Given the description of an element on the screen output the (x, y) to click on. 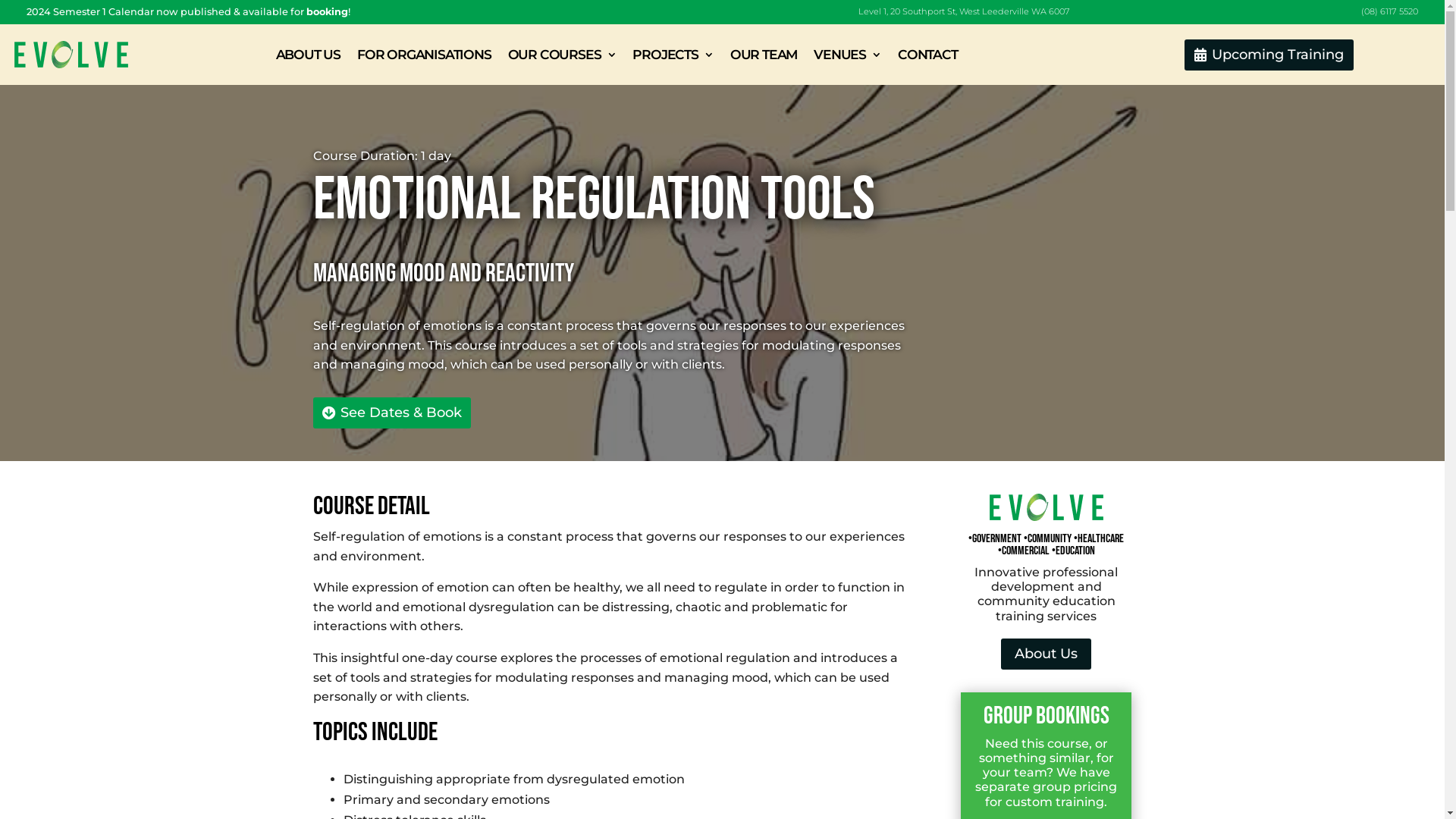
PROJECTS Element type: text (672, 54)
(08) 6117 5520 Element type: text (1389, 11)
FOR ORGANISATIONS Element type: text (424, 54)
CONTACT Element type: text (927, 54)
OUR TEAM Element type: text (763, 54)
VENUES Element type: text (847, 54)
booking Element type: text (327, 11)
ABOUT US Element type: text (308, 54)
Upcoming Training Element type: text (1268, 54)
See Dates & Book Element type: text (391, 412)
OUR COURSES Element type: text (562, 54)
About Us Element type: text (1046, 653)
Evolve WA logo small Element type: hover (1046, 506)
